Given the description of an element on the screen output the (x, y) to click on. 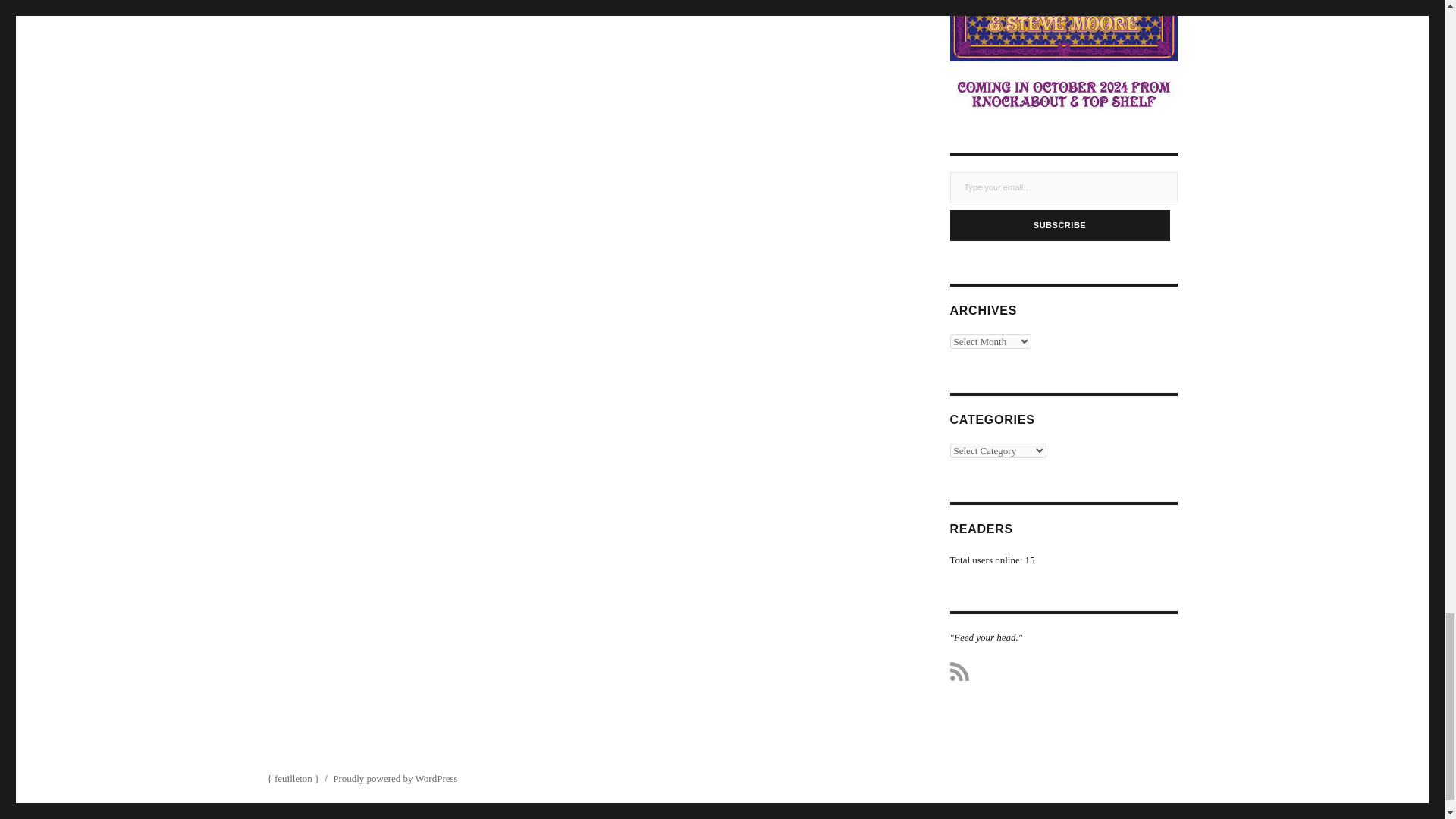
Please fill in this field. (1062, 186)
